Given the description of an element on the screen output the (x, y) to click on. 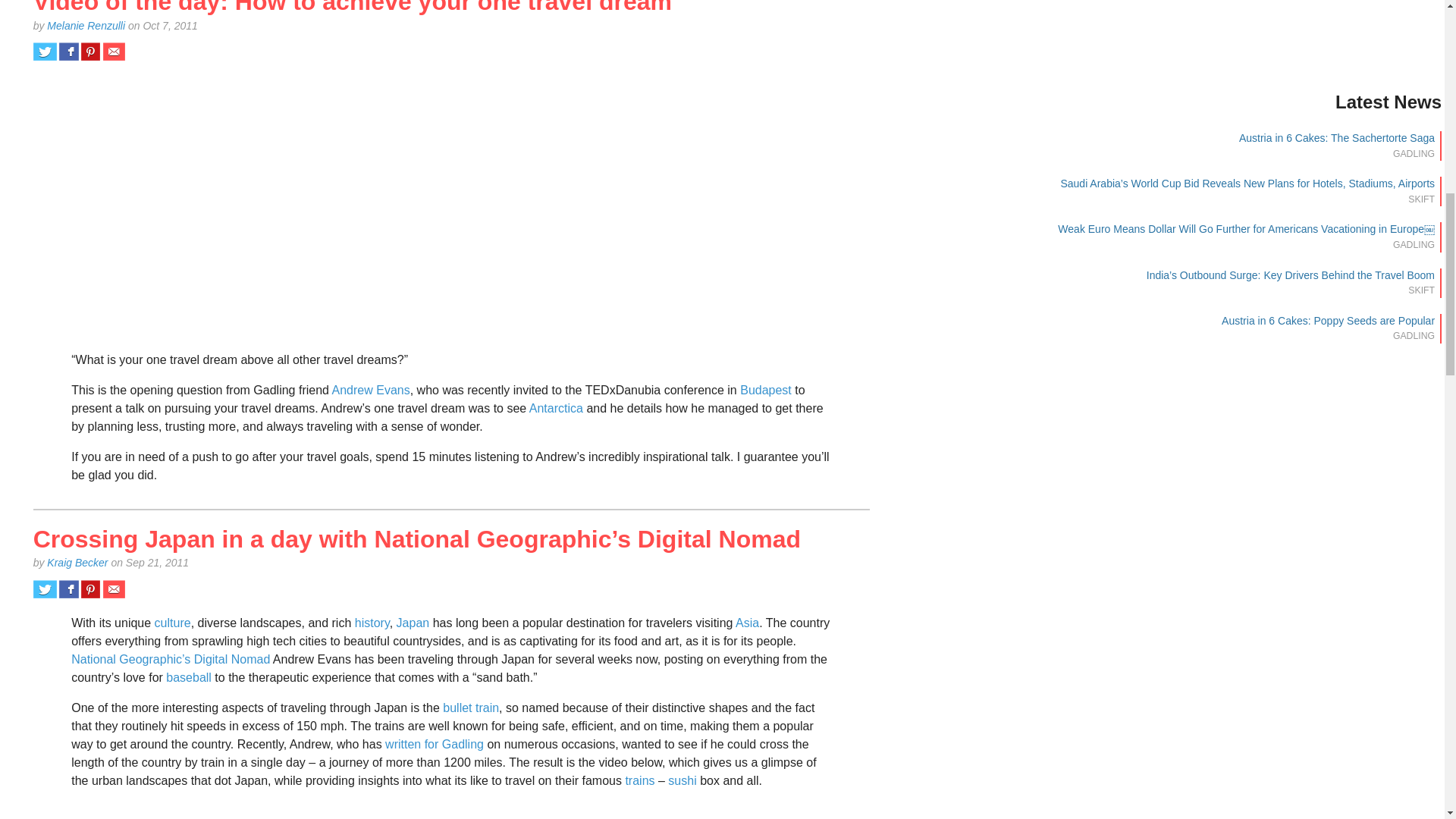
Share on Facebook (68, 51)
Share on Twitter (44, 51)
Video of the day: How to achieve your one travel dream (352, 7)
Share on Pinterest (90, 51)
Share via email (114, 588)
Share on Facebook (68, 588)
Share on Pinterest (90, 588)
Share via email (114, 51)
Share on Twitter (44, 588)
